Given the description of an element on the screen output the (x, y) to click on. 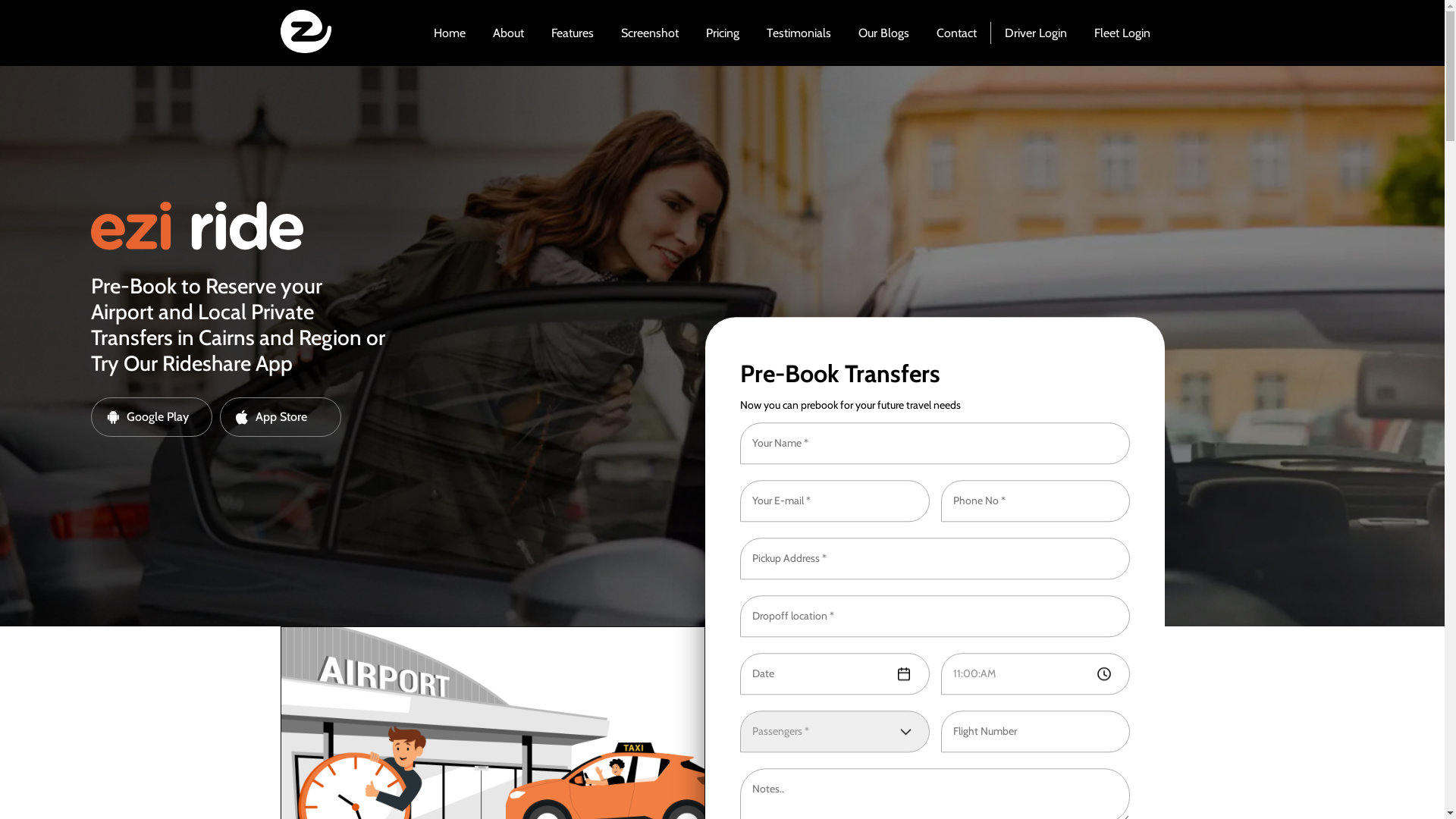
App Store Element type: text (280, 416)
Contact Element type: text (956, 32)
Driver Login Element type: text (1035, 32)
Google Play Element type: text (151, 416)
Pricing Element type: text (722, 32)
Fleet Login Element type: text (1122, 32)
Home Element type: text (449, 32)
Our Blogs Element type: text (883, 32)
Testimonials Element type: text (798, 32)
About Element type: text (508, 32)
Ezi Ride Element type: text (300, 74)
Screenshot Element type: text (649, 32)
Features Element type: text (572, 32)
